Given the description of an element on the screen output the (x, y) to click on. 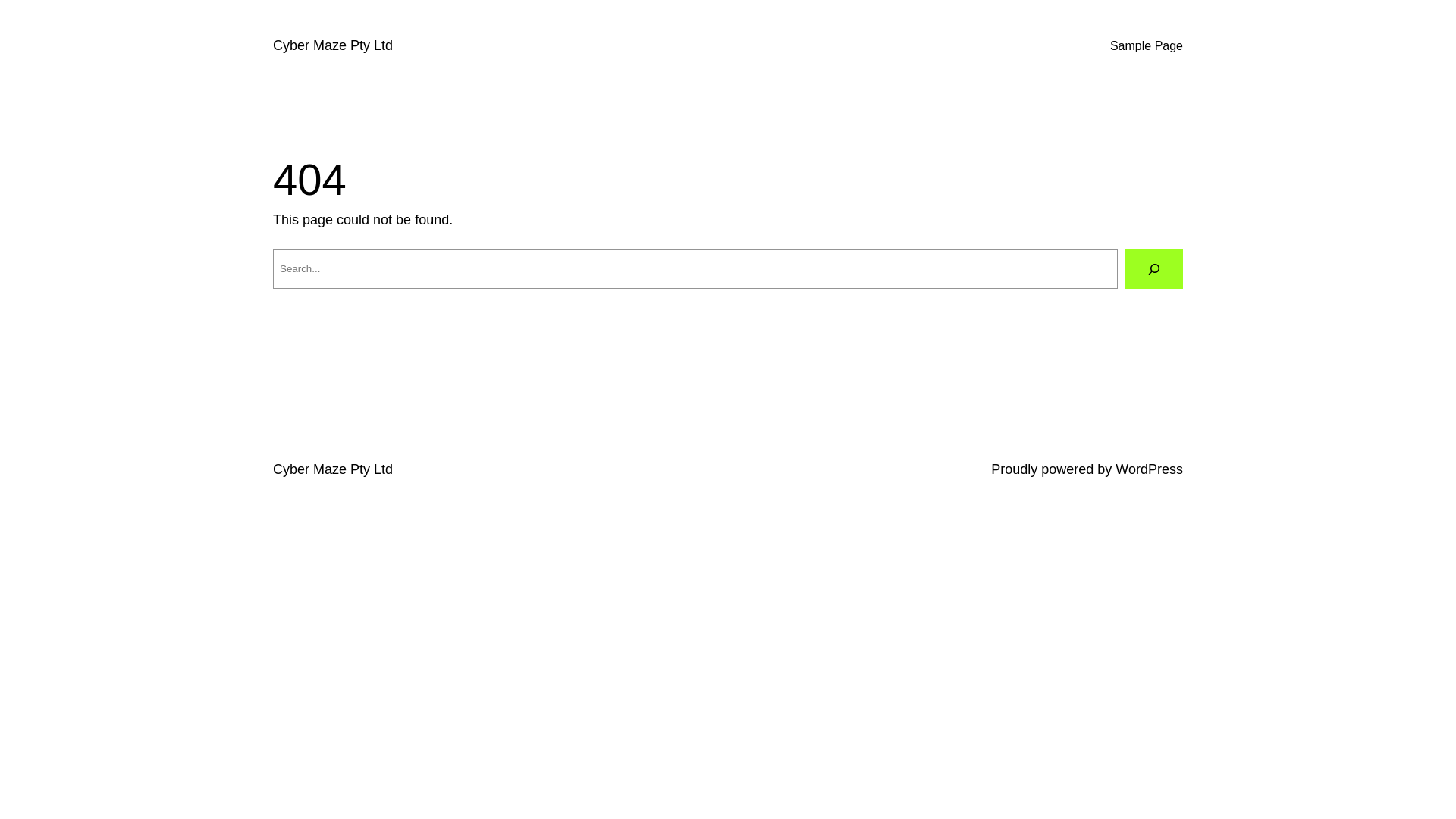
Cyber Maze Pty Ltd Element type: text (332, 45)
Cyber Maze Pty Ltd Element type: text (332, 468)
Sample Page Element type: text (1146, 46)
WordPress Element type: text (1149, 468)
